Given the description of an element on the screen output the (x, y) to click on. 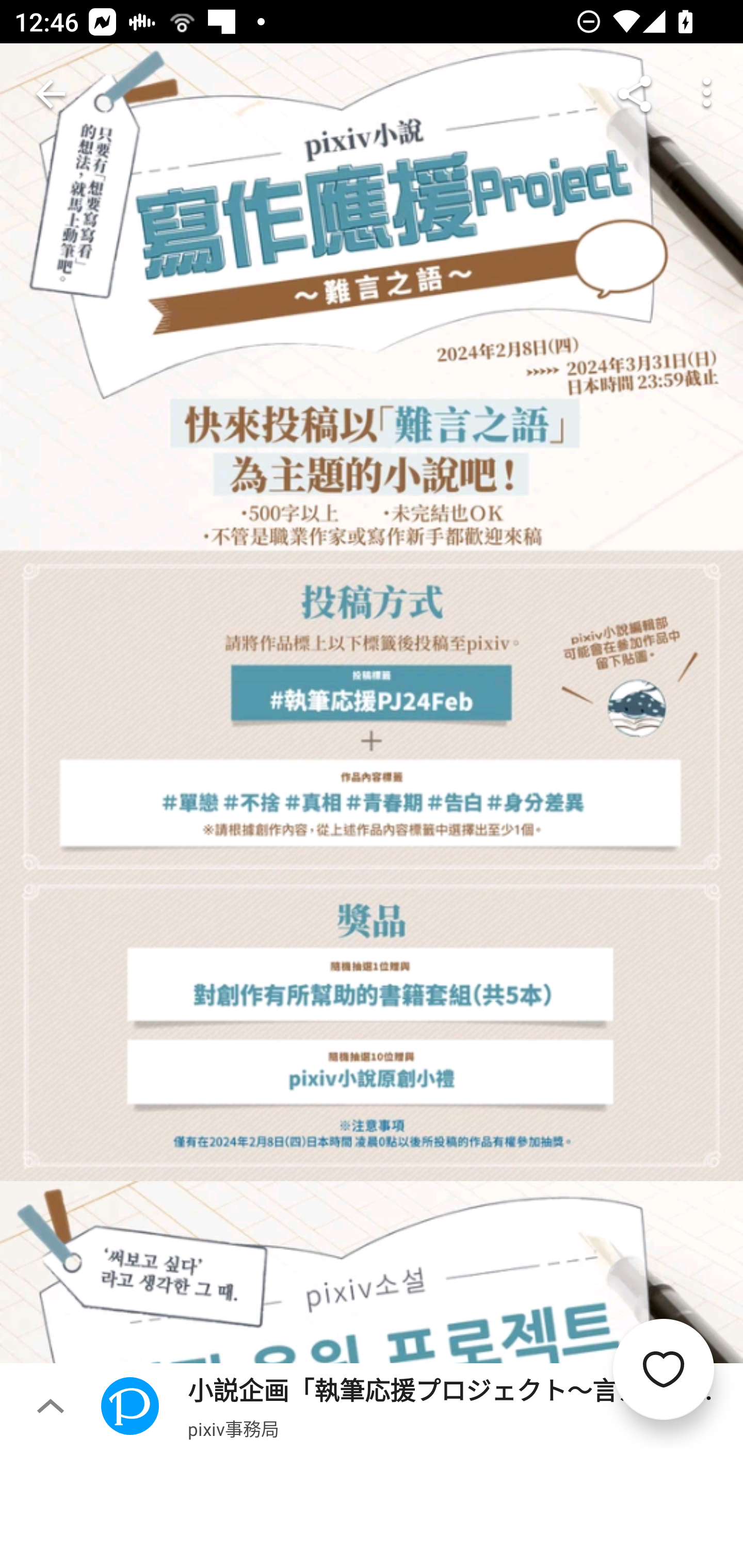
Share (634, 93)
More options (706, 93)
小説企画「執筆応援プロジェクト～言えなかったひとこと～」開催 pixiv事務局 (422, 1405)
pixiv事務局 (233, 1427)
